Given the description of an element on the screen output the (x, y) to click on. 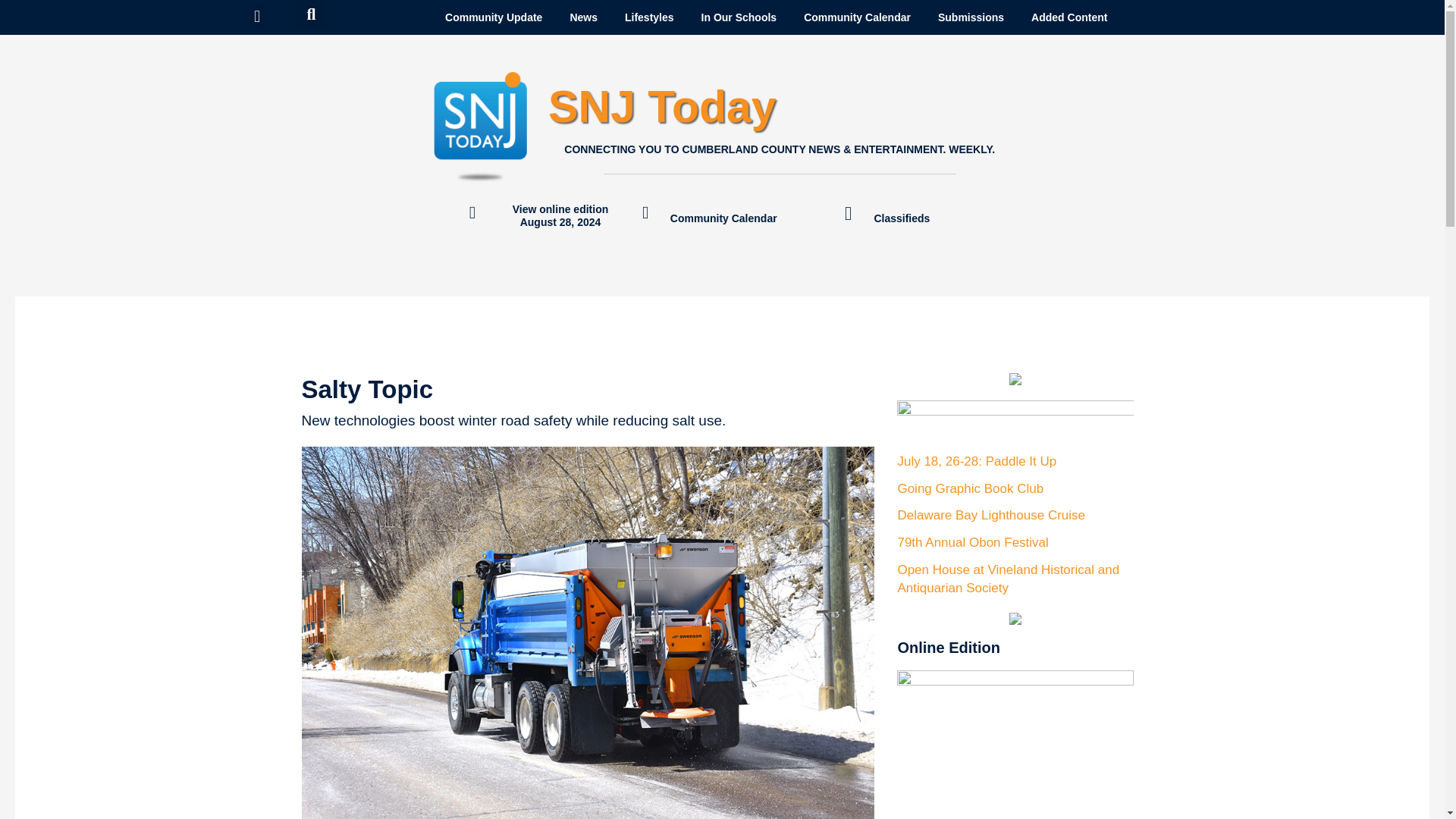
News (583, 17)
Community Update (493, 17)
Community Calendar (857, 17)
Lifestyles (649, 17)
Added Content (1069, 17)
Submissions (970, 17)
In Our Schools (738, 17)
